Given the description of an element on the screen output the (x, y) to click on. 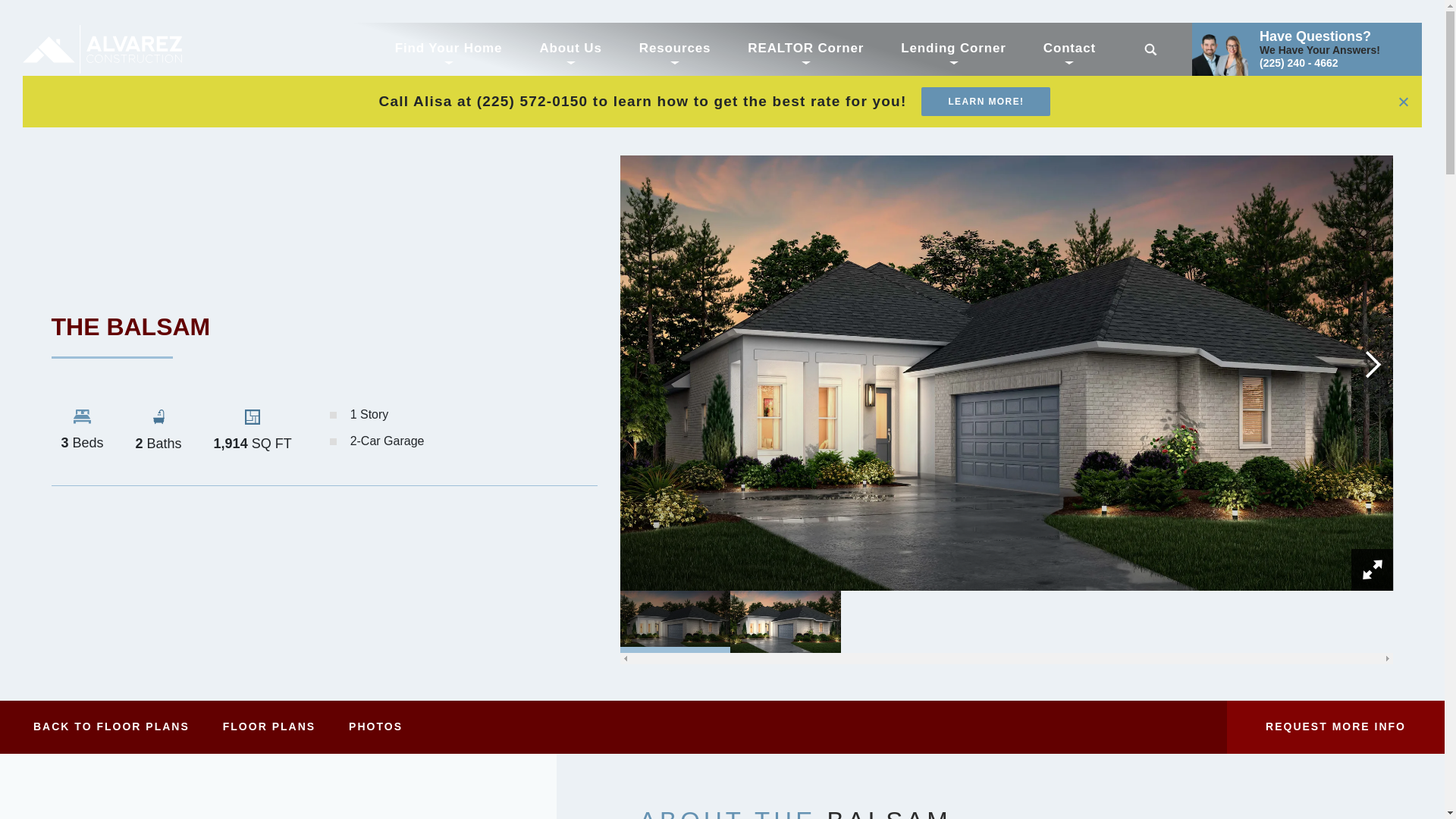
PHOTOS (375, 727)
FLOOR PLANS (268, 727)
BACK TO FLOOR PLANS (111, 727)
